Given the description of an element on the screen output the (x, y) to click on. 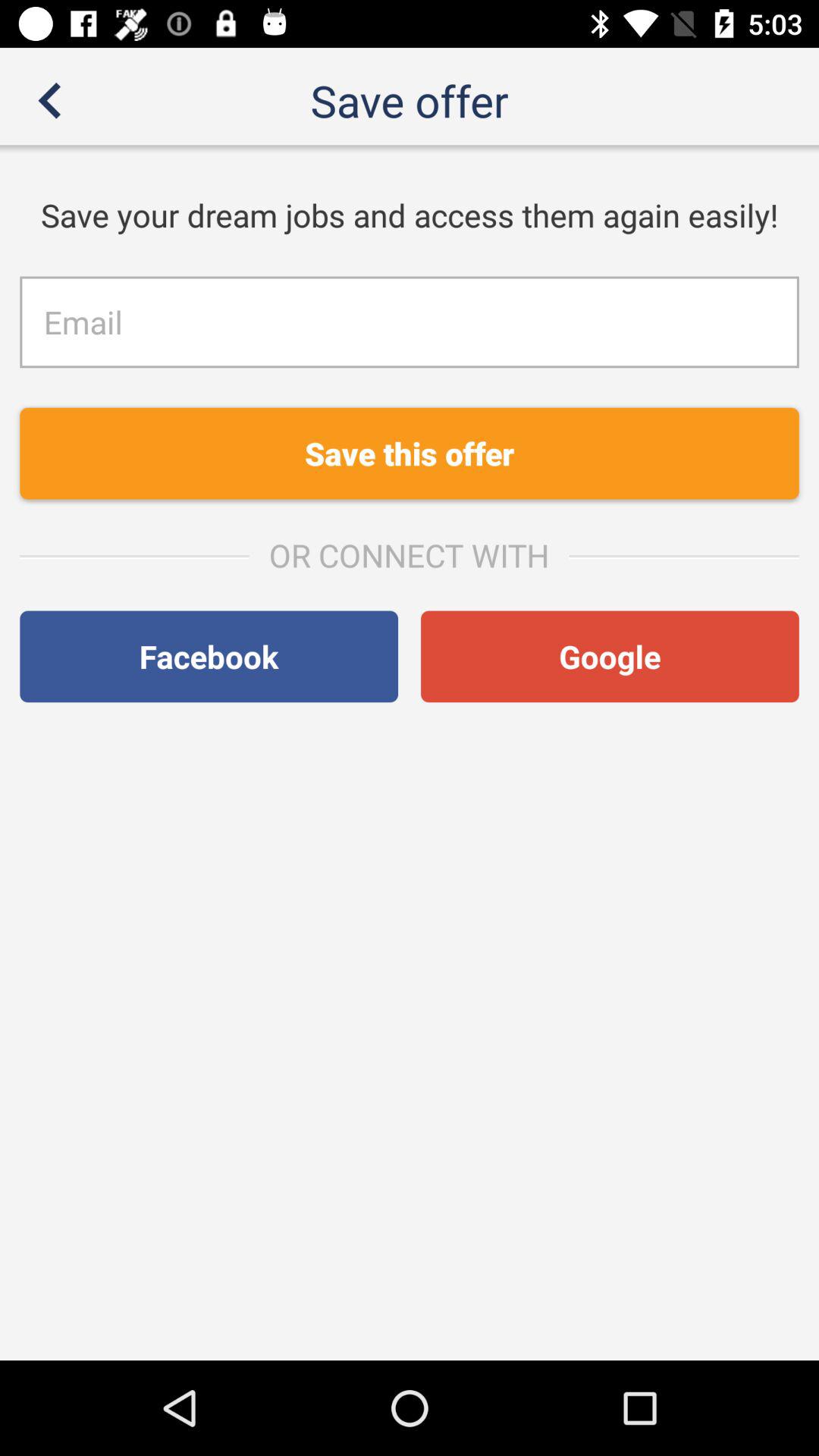
select mail (409, 321)
